Given the description of an element on the screen output the (x, y) to click on. 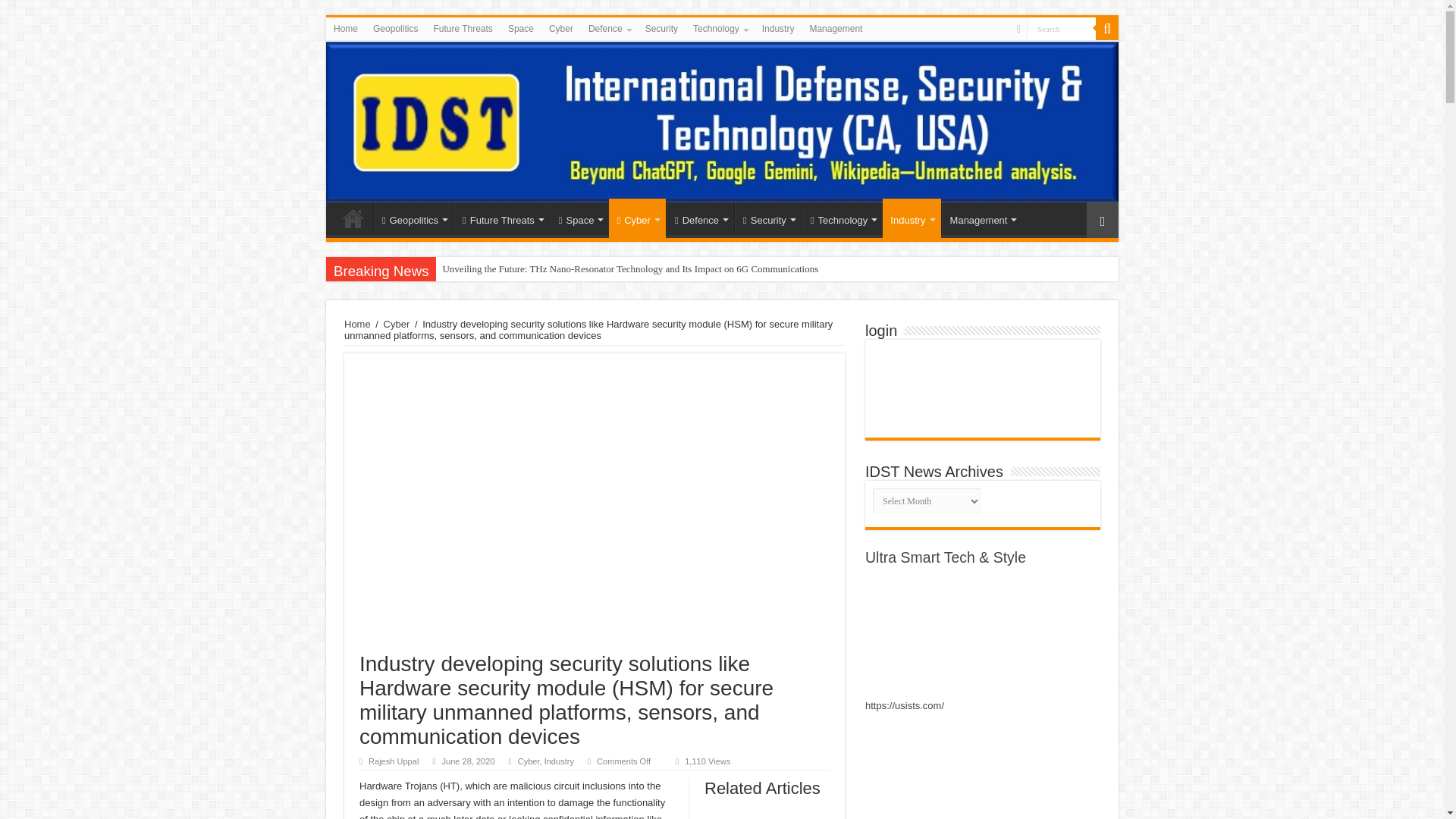
Industry (778, 28)
Search (1061, 28)
Search (1107, 28)
Search (1061, 28)
Defence (608, 28)
Security (661, 28)
Technology (719, 28)
Management (835, 28)
Space (520, 28)
Search (1061, 28)
